Given the description of an element on the screen output the (x, y) to click on. 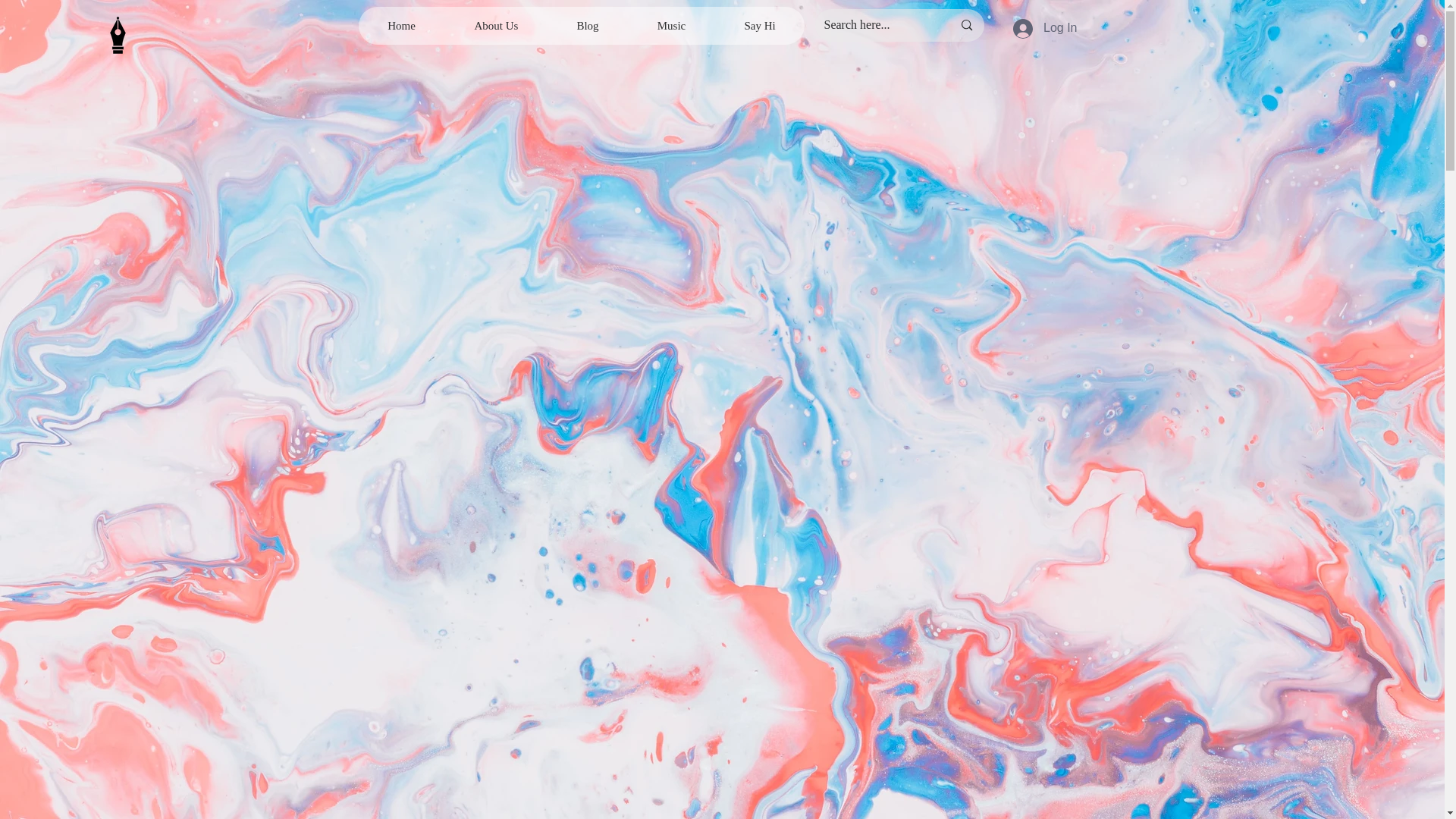
Home (401, 25)
Music (670, 25)
Log In (1045, 27)
Blog (587, 25)
Say Hi (758, 25)
About Us (495, 25)
